Given the description of an element on the screen output the (x, y) to click on. 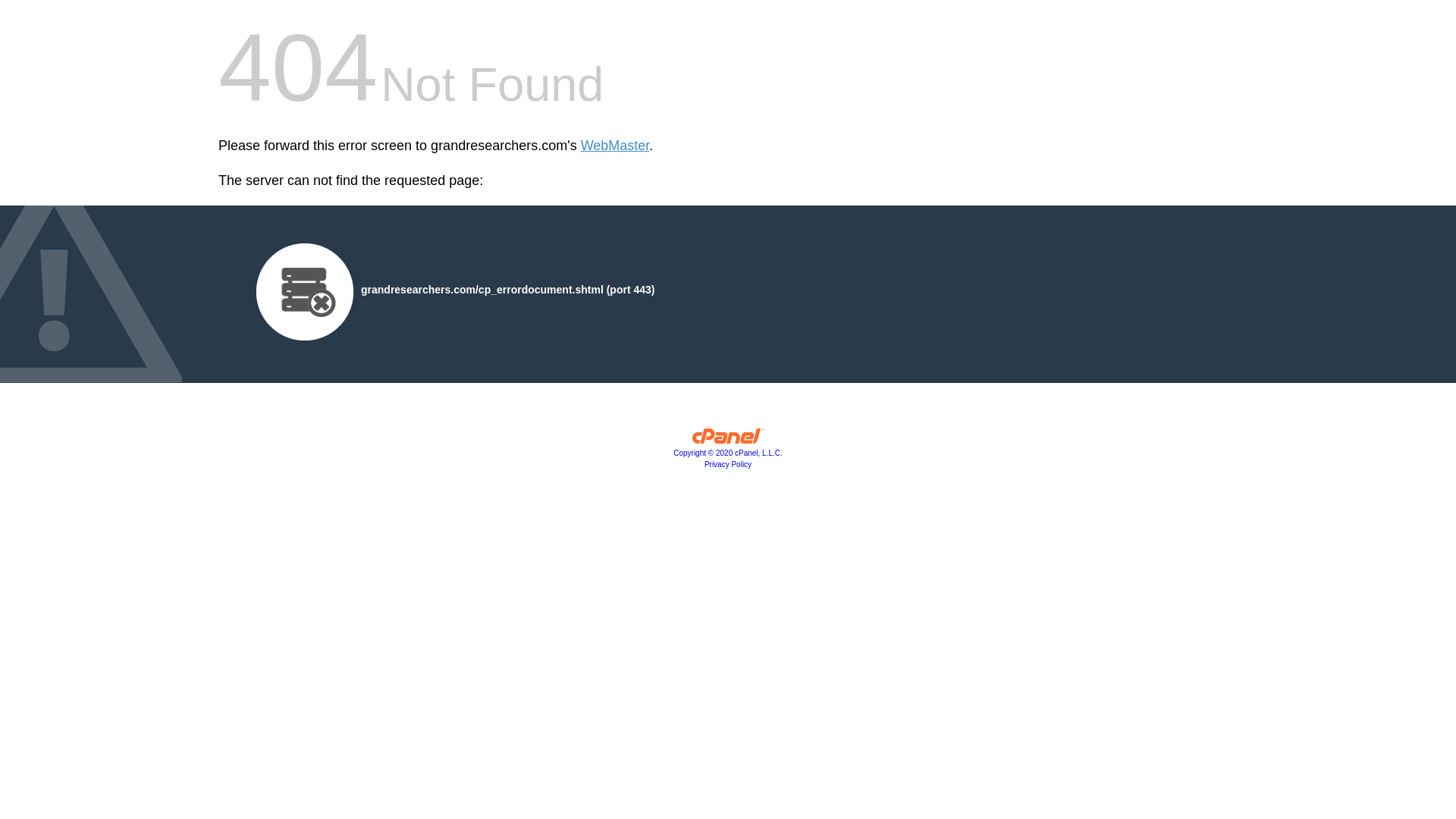
cPanel, Inc. (728, 439)
cPanel, Inc. (727, 452)
Privacy Policy (727, 464)
WebMaster (614, 145)
